Given the description of an element on the screen output the (x, y) to click on. 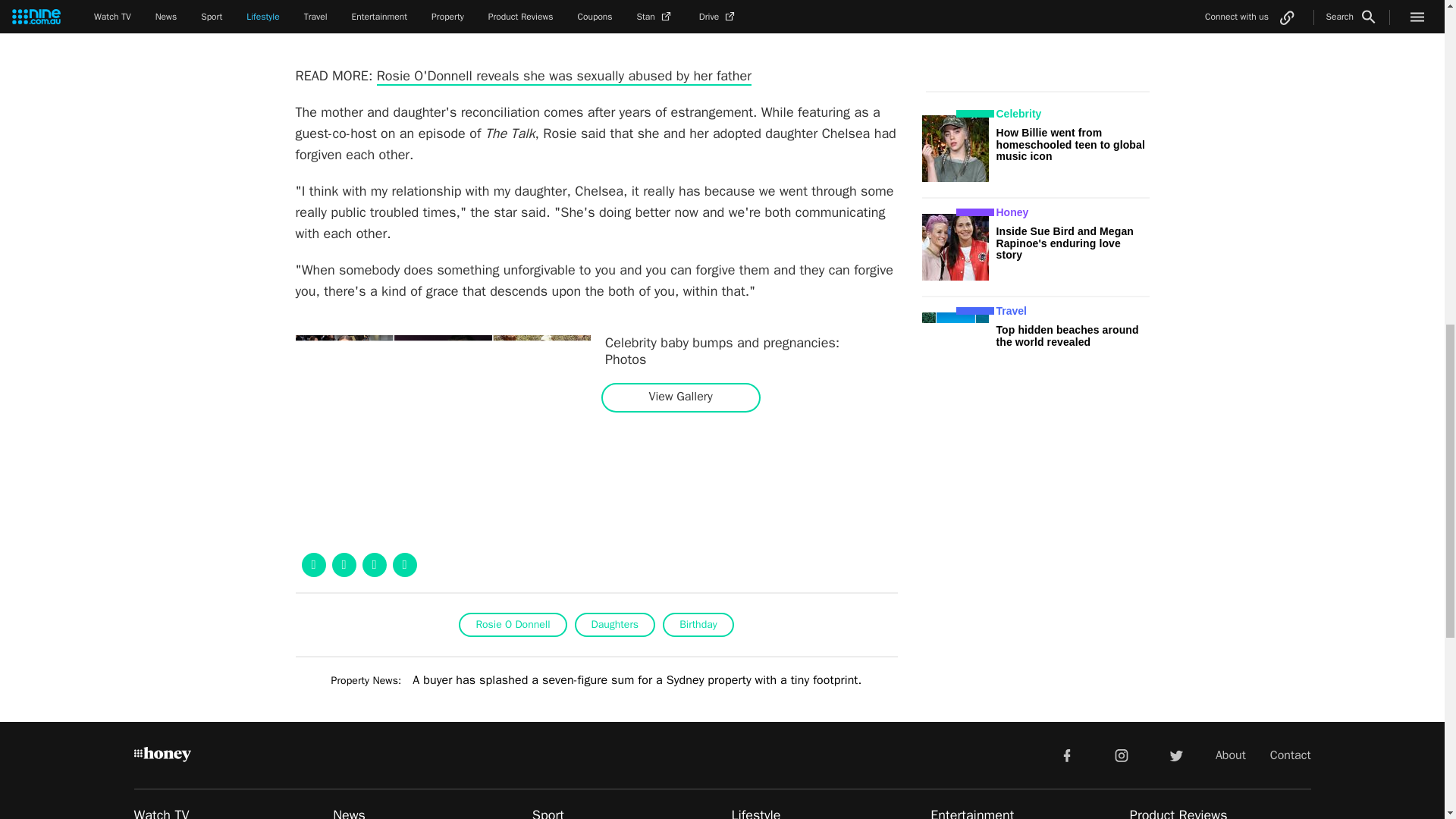
View Gallery (680, 396)
twitter (1175, 754)
facebook (1066, 754)
instagram (1121, 754)
captioned one photo (548, 3)
captioned one photo (548, 3)
